Given the description of an element on the screen output the (x, y) to click on. 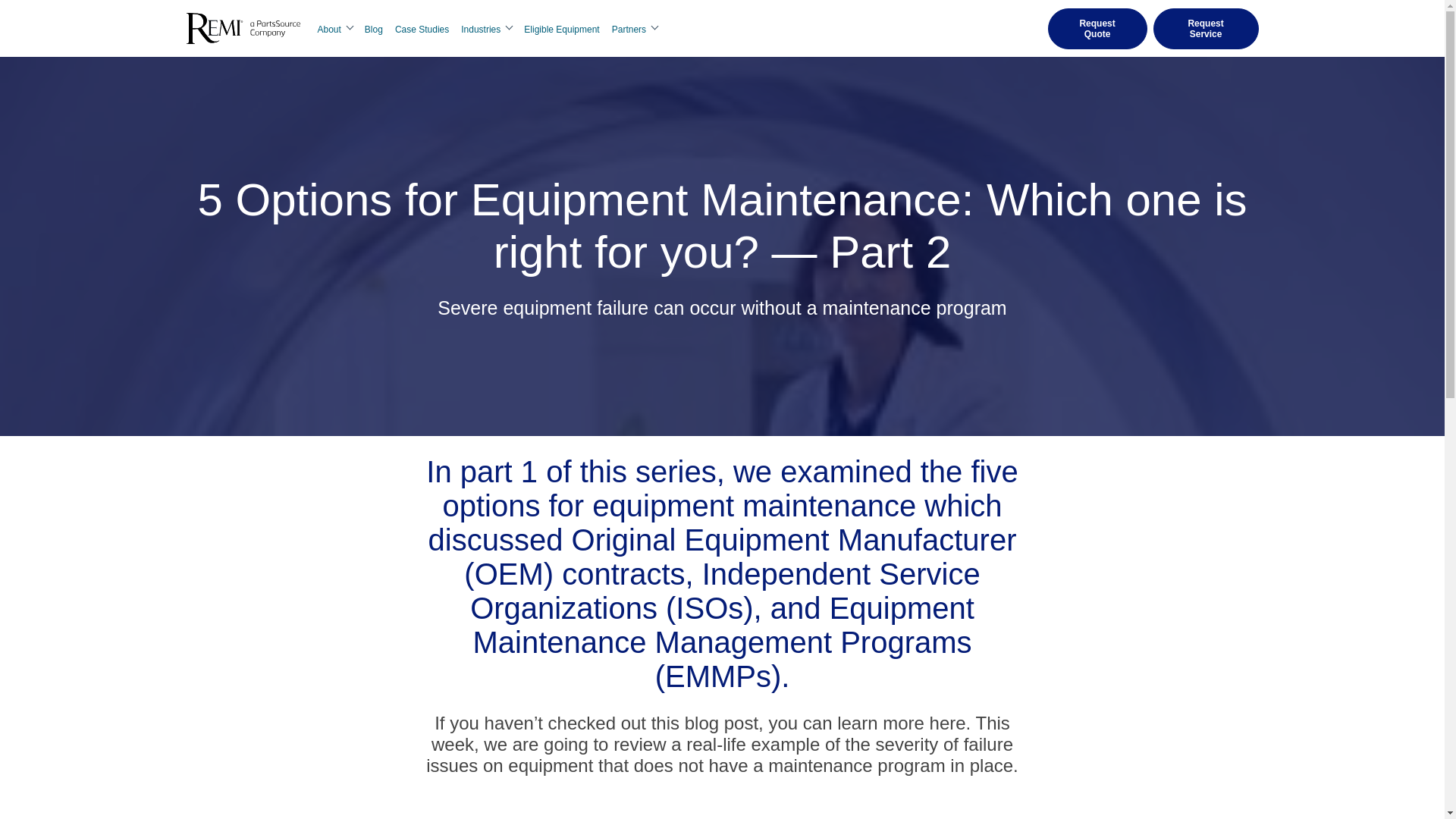
Case Studies (421, 29)
Request Service (1206, 27)
Request Quote (1097, 27)
Industries (486, 29)
Remi, a PartsSource Company (242, 29)
Eligible Equipment (561, 29)
